Given the description of an element on the screen output the (x, y) to click on. 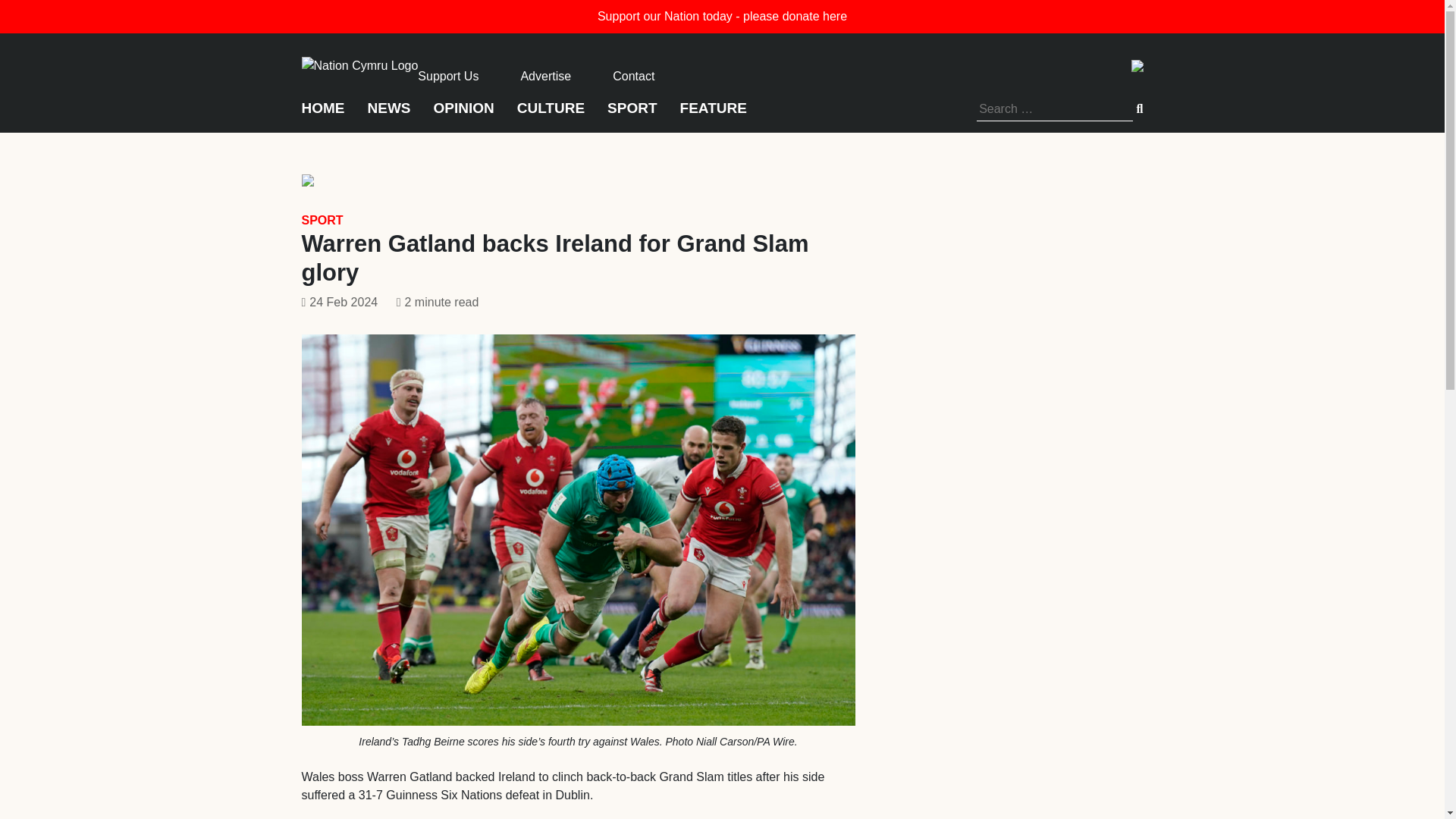
Support Us (448, 75)
NEWS (388, 114)
FEATURE (712, 114)
Advertise (544, 75)
CULTURE (550, 114)
SPORT (631, 114)
HOME (323, 114)
home (360, 64)
OPINION (464, 114)
Contact (632, 75)
